Given the description of an element on the screen output the (x, y) to click on. 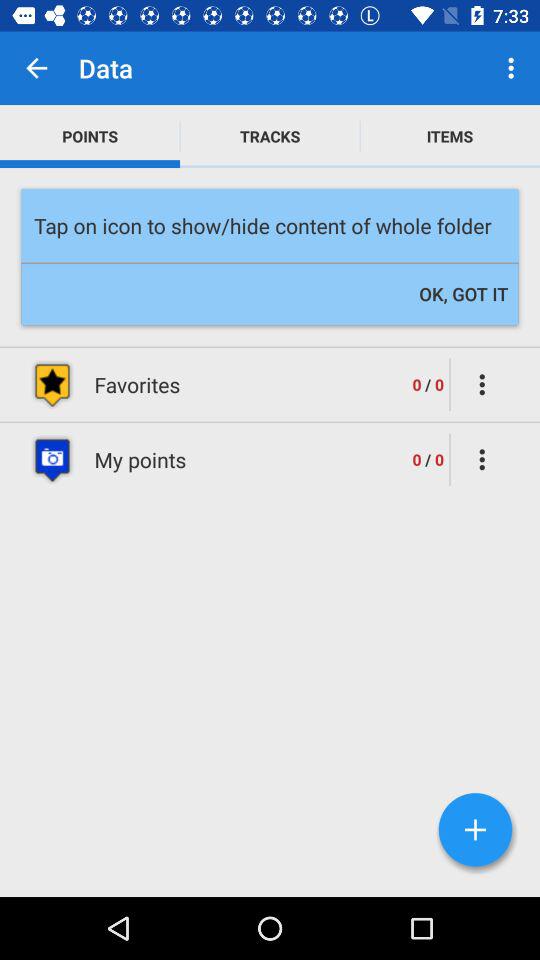
click the icon below the tap on icon (463, 293)
